Given the description of an element on the screen output the (x, y) to click on. 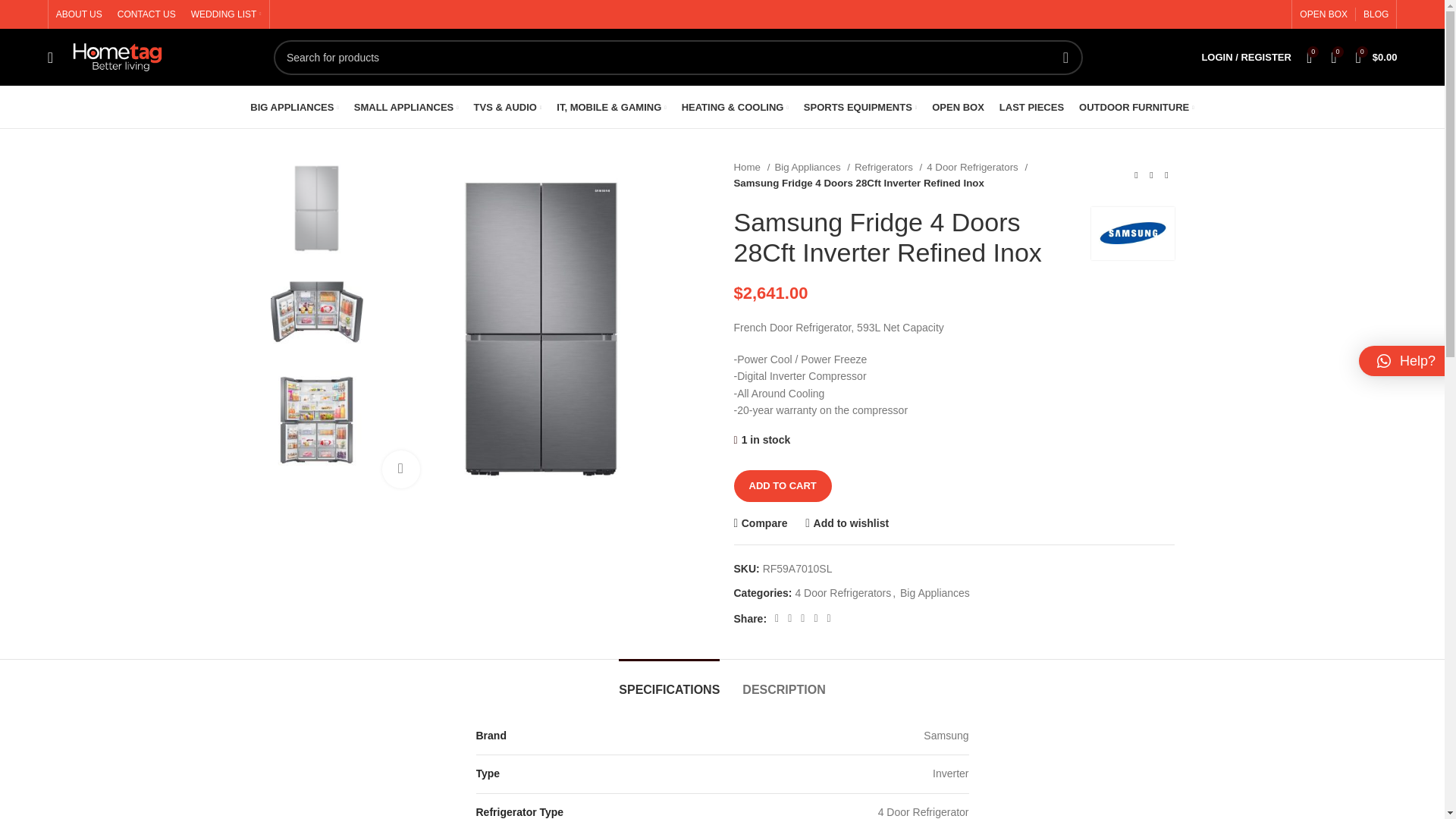
ABOUT US (78, 14)
My account (1245, 57)
CONTACT US (146, 14)
OPEN BOX (1324, 14)
SEARCH (1065, 56)
WEDDING LIST (226, 14)
Shopping cart (1376, 57)
BIG APPLIANCES (293, 107)
Samsung (1131, 232)
RF59A7010SL (539, 328)
